Given the description of an element on the screen output the (x, y) to click on. 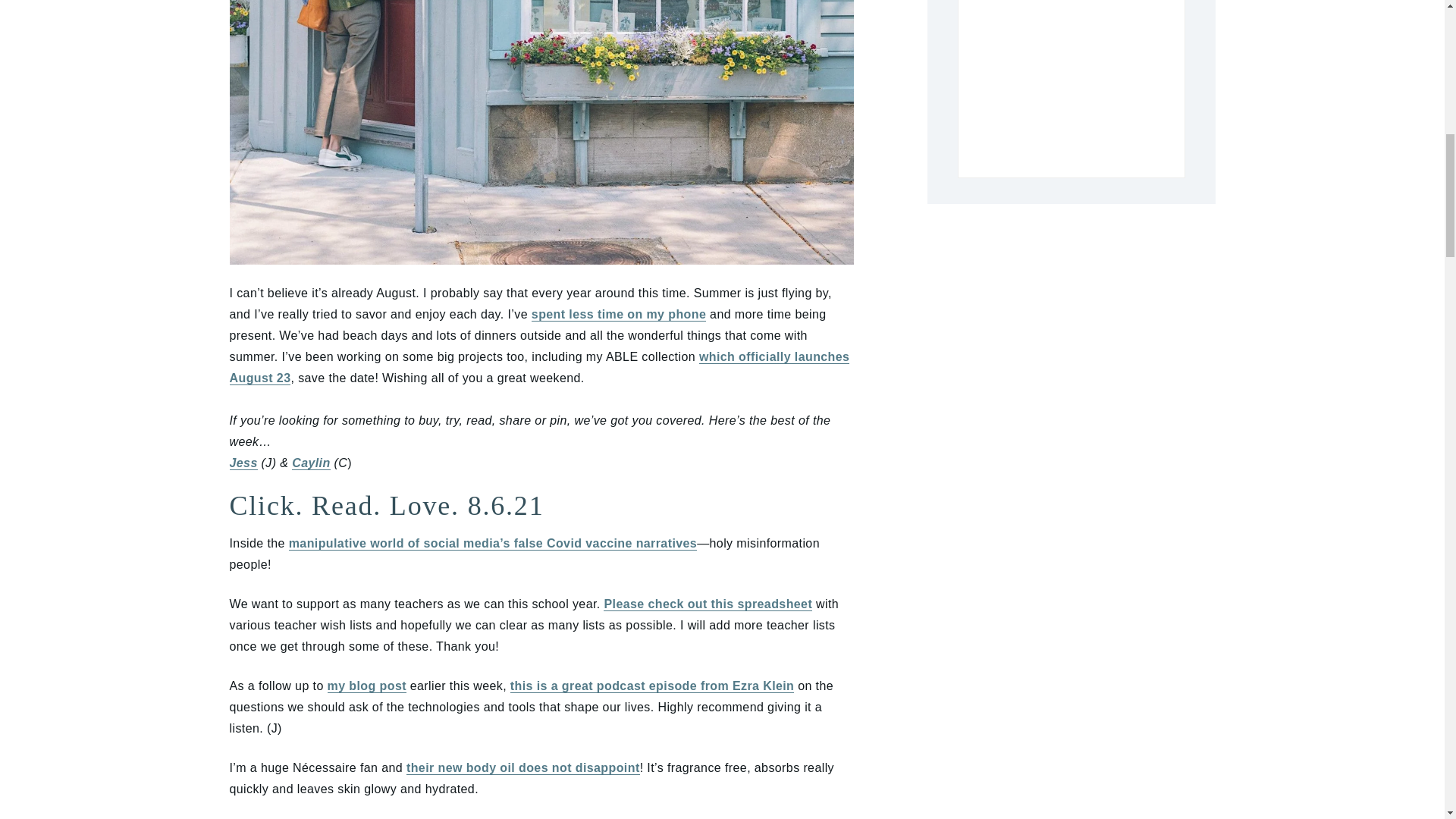
Jess (242, 463)
spent less time on my phone (618, 314)
which officially launches August 23 (538, 367)
Caylin (311, 463)
Please check out this spreadsheet (708, 603)
